Given the description of an element on the screen output the (x, y) to click on. 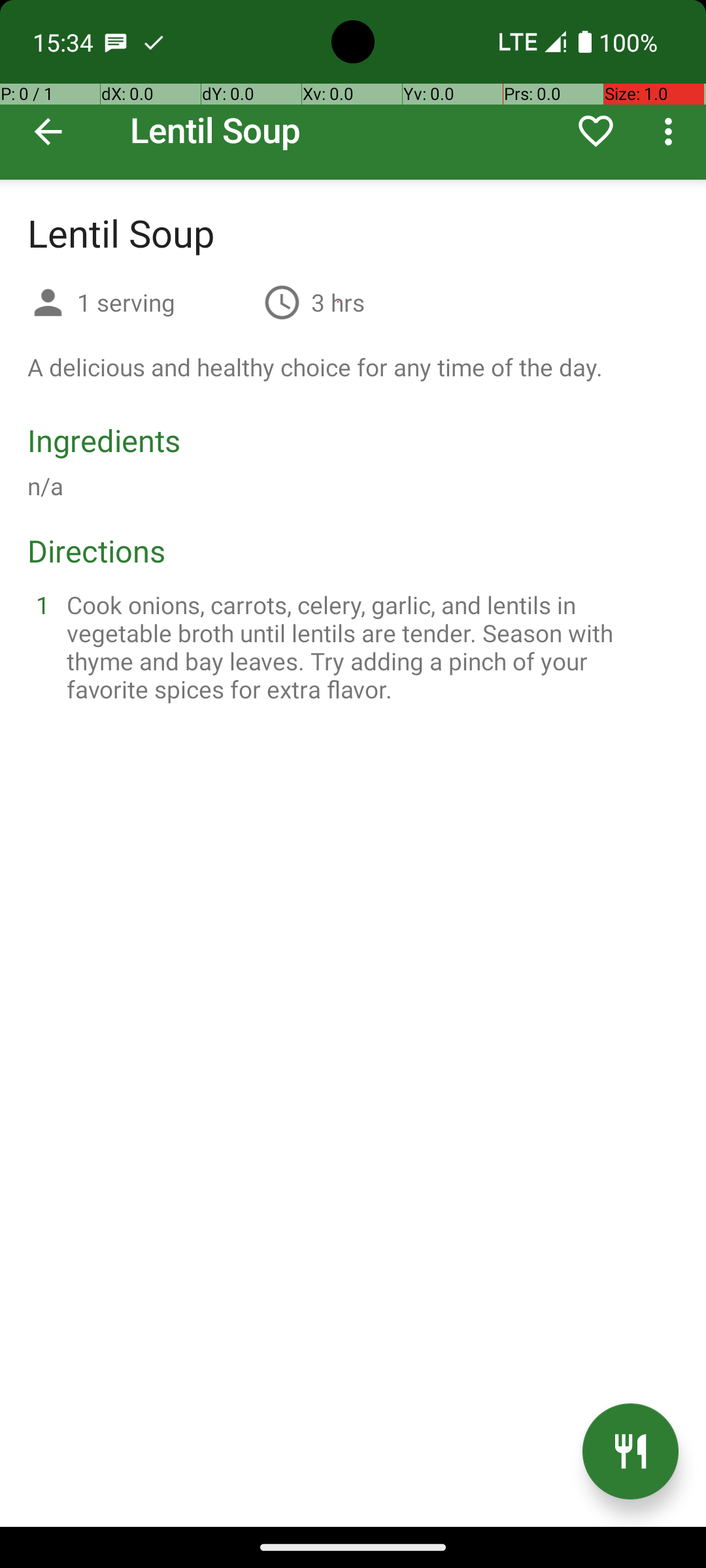
Cook onions, carrots, celery, garlic, and lentils in vegetable broth until lentils are tender. Season with thyme and bay leaves. Try adding a pinch of your favorite spices for extra flavor. Element type: android.widget.TextView (368, 646)
